Given the description of an element on the screen output the (x, y) to click on. 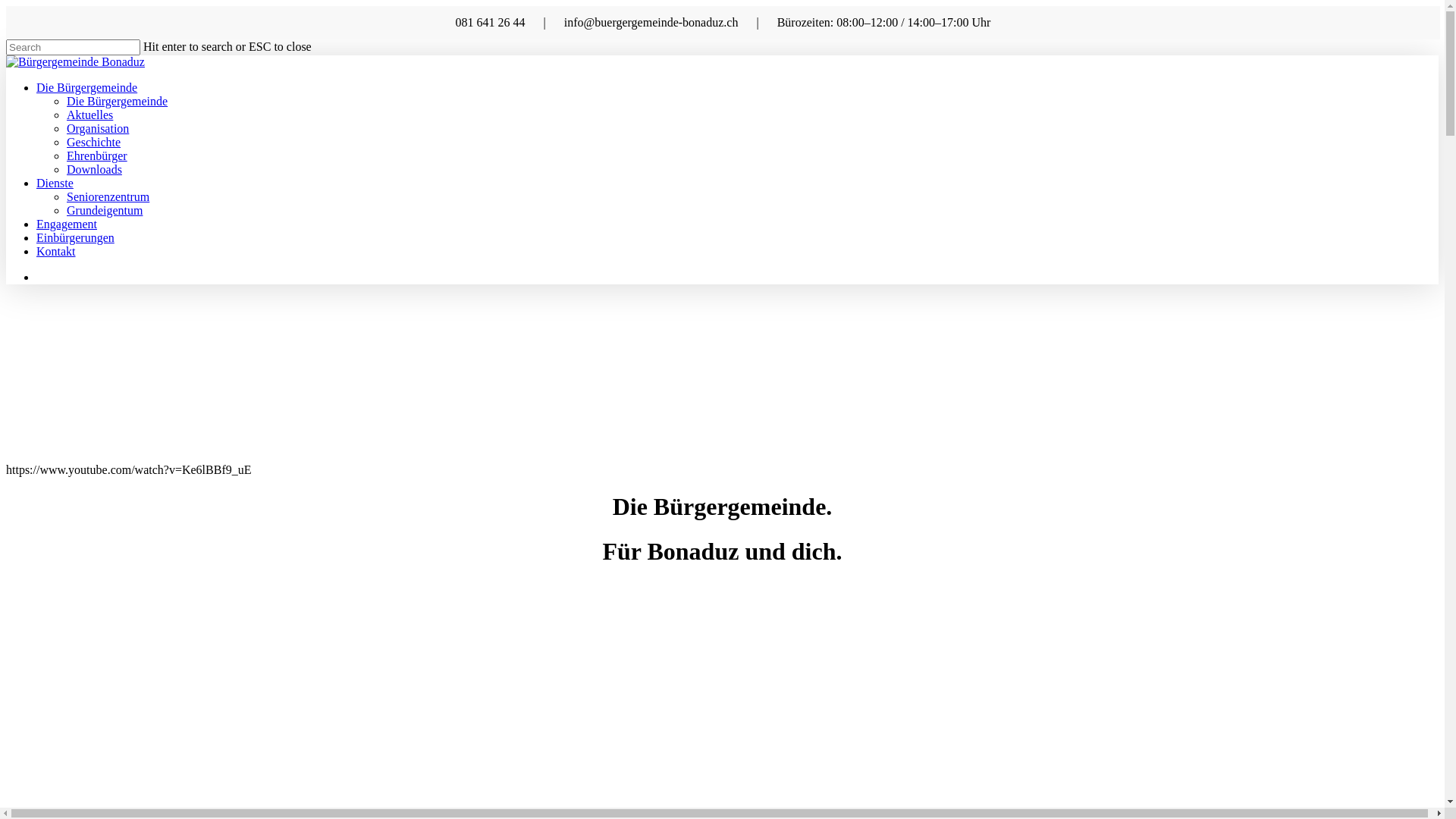
Kontakt Element type: text (55, 250)
Aktuelles Element type: text (89, 114)
Grundeigentum Element type: text (104, 209)
Geschichte Element type: text (93, 141)
Engagement Element type: text (66, 223)
Organisation Element type: text (97, 128)
Seniorenzentrum Element type: text (107, 196)
Downloads Element type: text (94, 169)
Dienste Element type: text (54, 182)
